Given the description of an element on the screen output the (x, y) to click on. 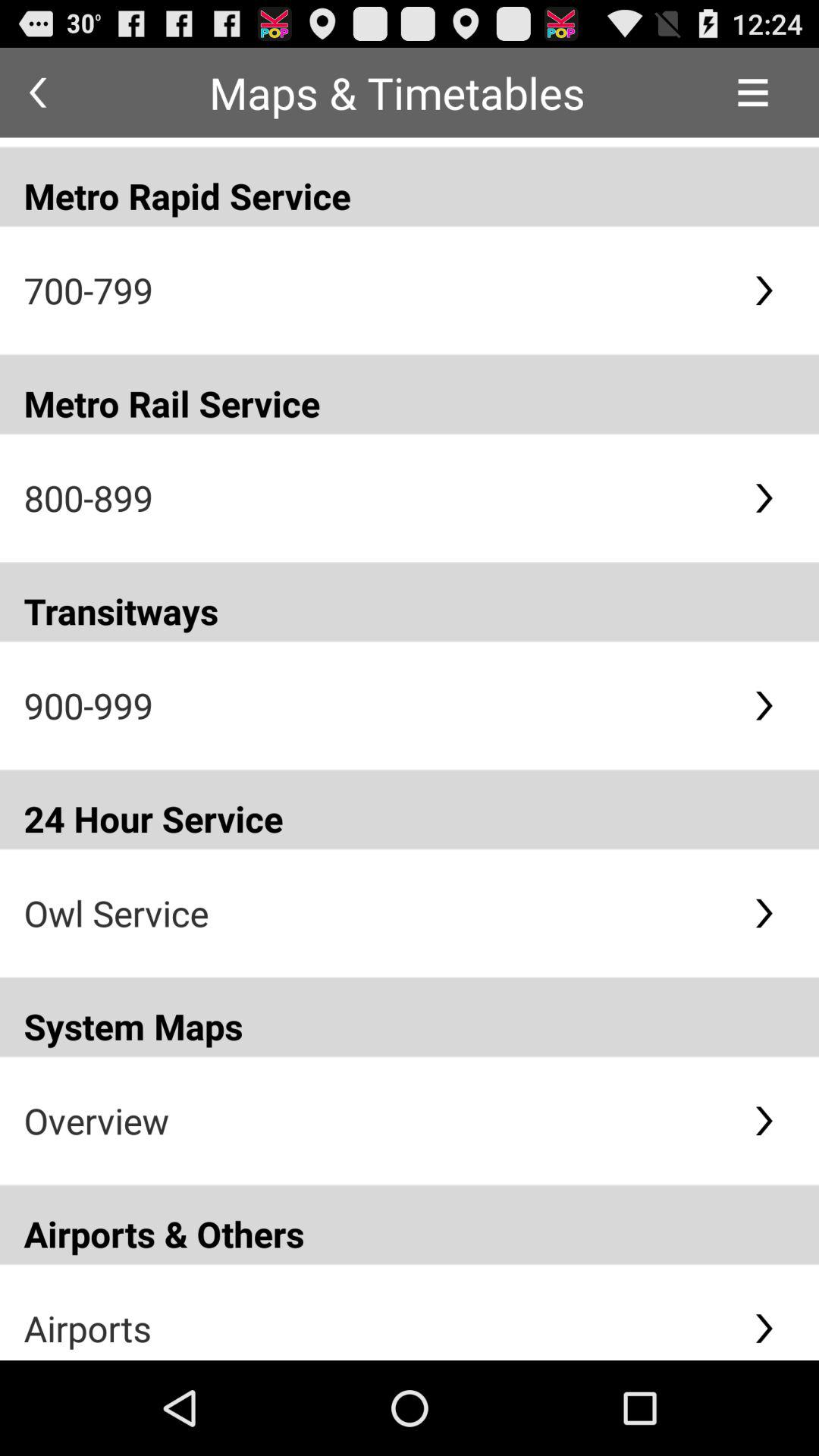
swipe to the owl service item (376, 913)
